Given the description of an element on the screen output the (x, y) to click on. 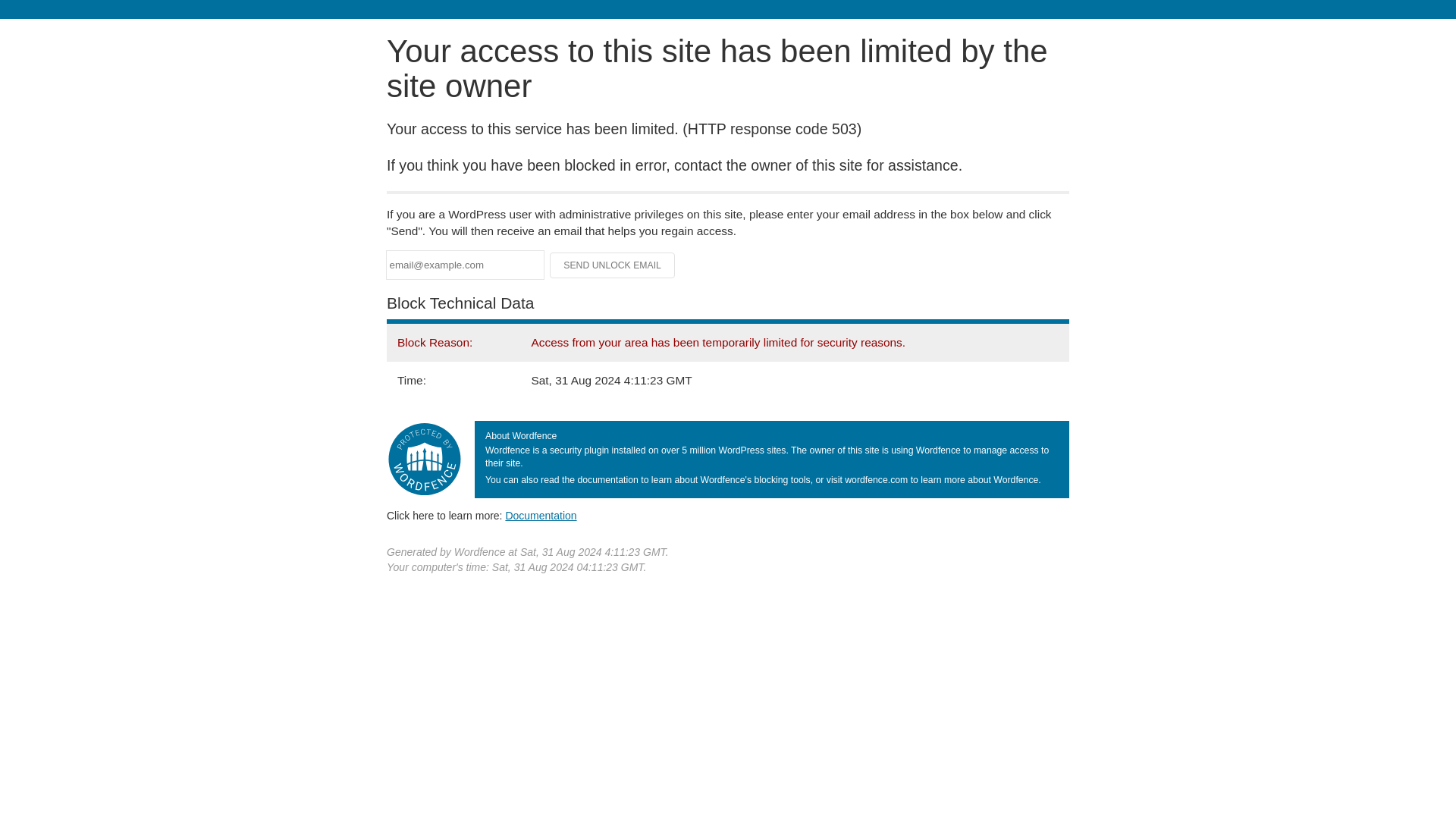
Send Unlock Email (612, 265)
Send Unlock Email (612, 265)
Documentation (540, 515)
